Given the description of an element on the screen output the (x, y) to click on. 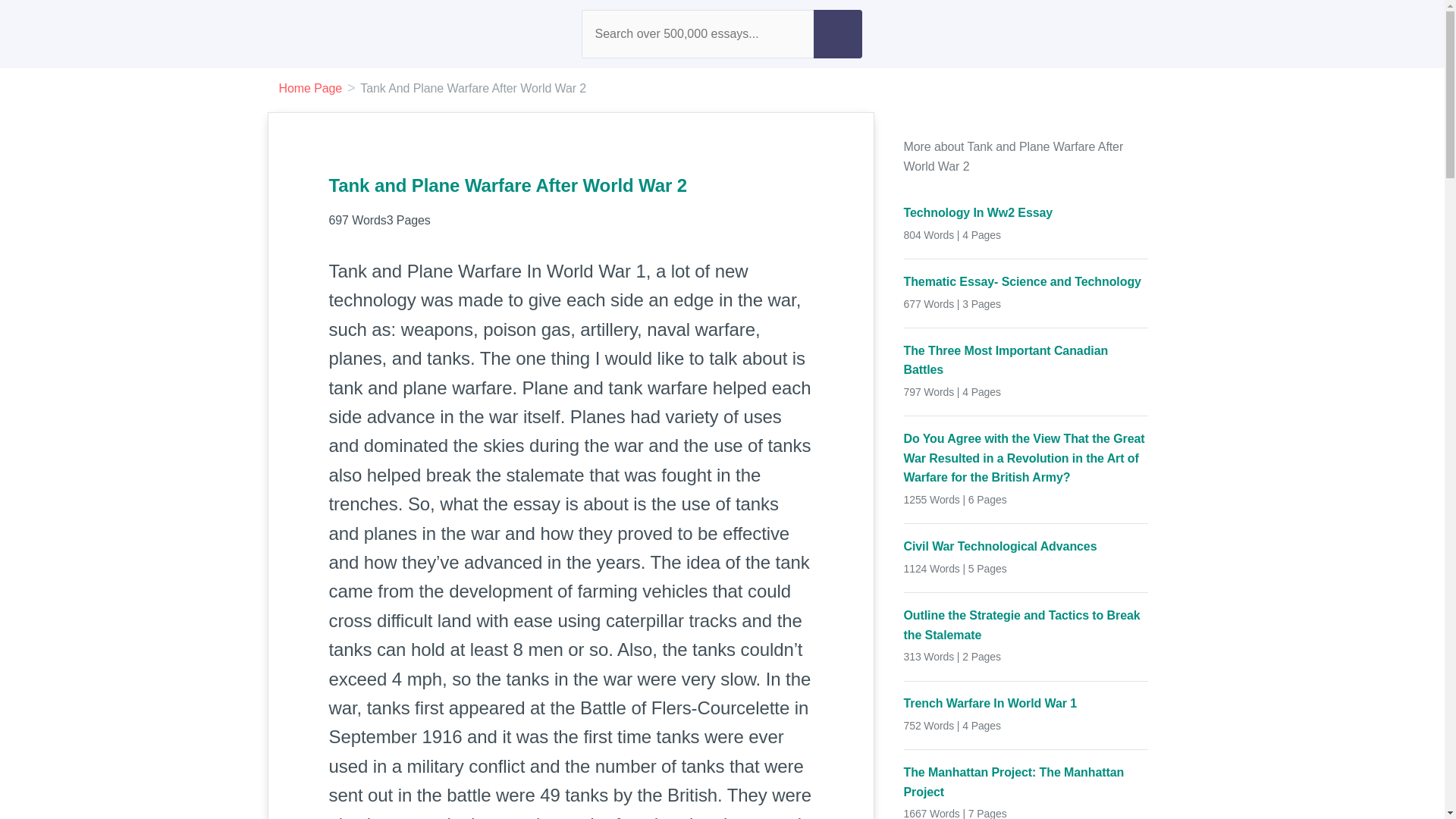
The Manhattan Project: The Manhattan Project (1026, 781)
Civil War Technological Advances (1026, 546)
Thematic Essay- Science and Technology (1026, 281)
The Three Most Important Canadian Battles (1026, 360)
Trench Warfare In World War 1 (1026, 703)
Home Page (310, 88)
Technology In Ww2 Essay (1026, 212)
Outline the Strategie and Tactics to Break the Stalemate (1026, 625)
